Given the description of an element on the screen output the (x, y) to click on. 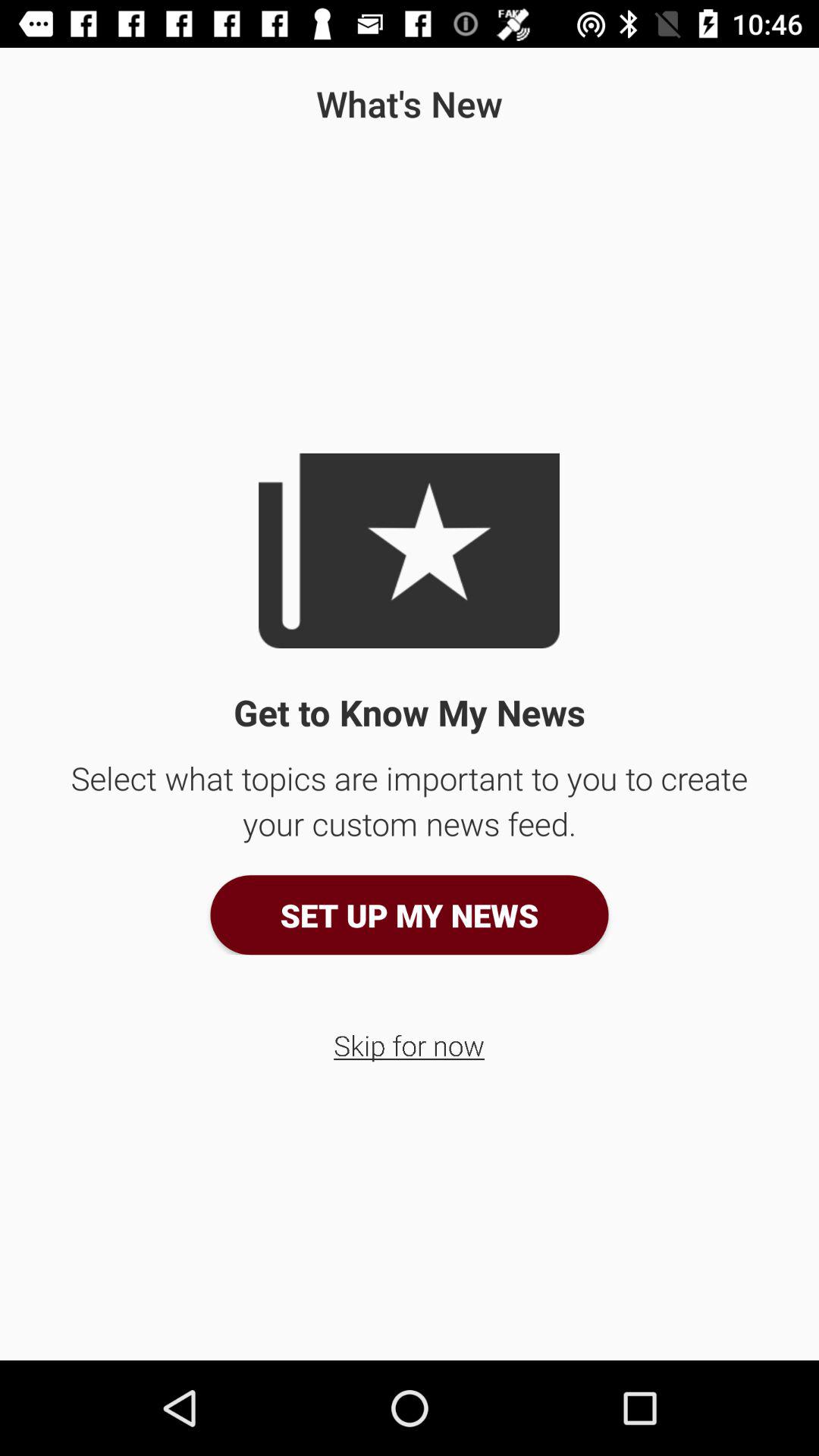
launch the skip for now (409, 1044)
